Given the description of an element on the screen output the (x, y) to click on. 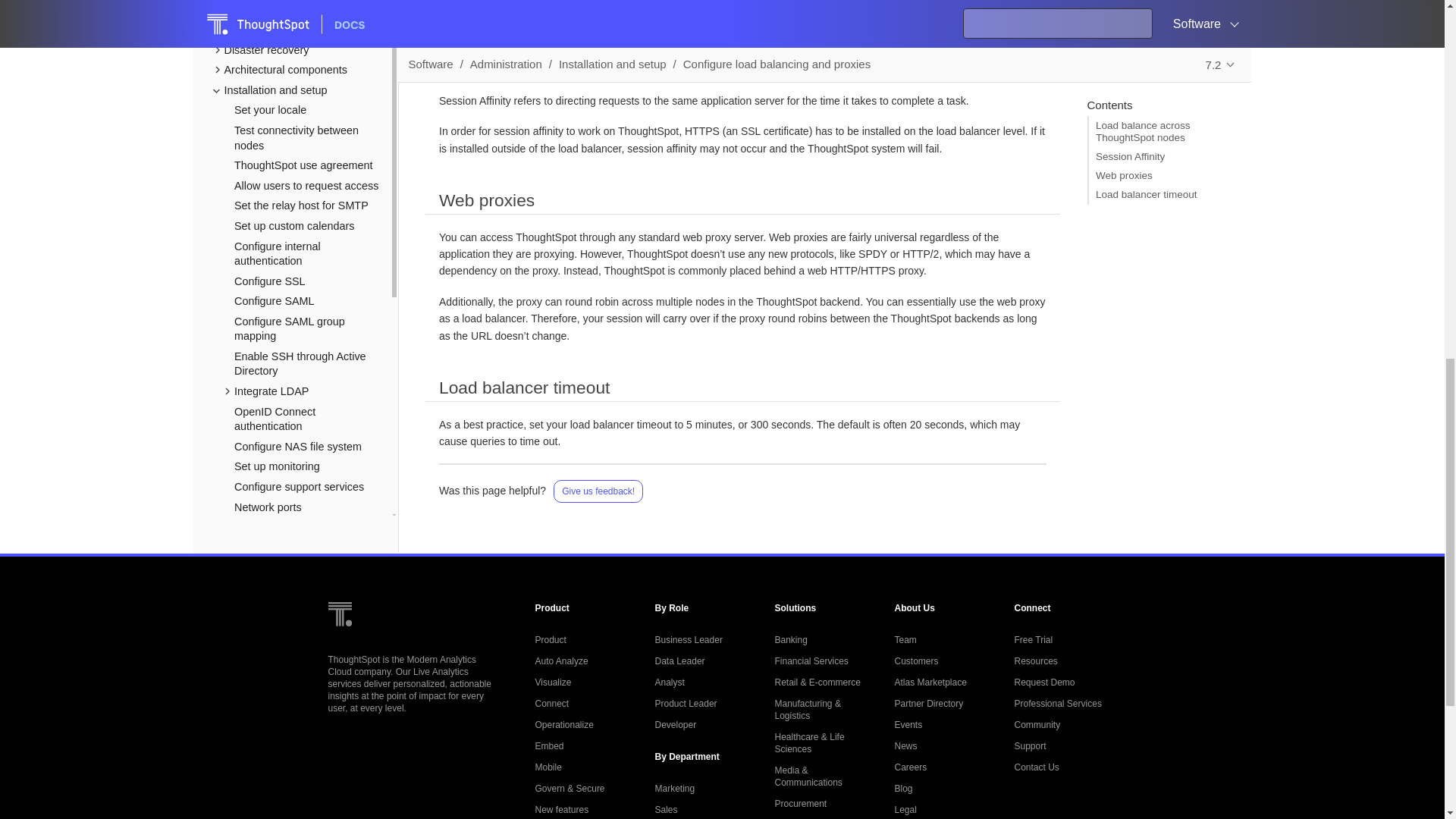
ThoughtSpot home page (338, 638)
